Given the description of an element on the screen output the (x, y) to click on. 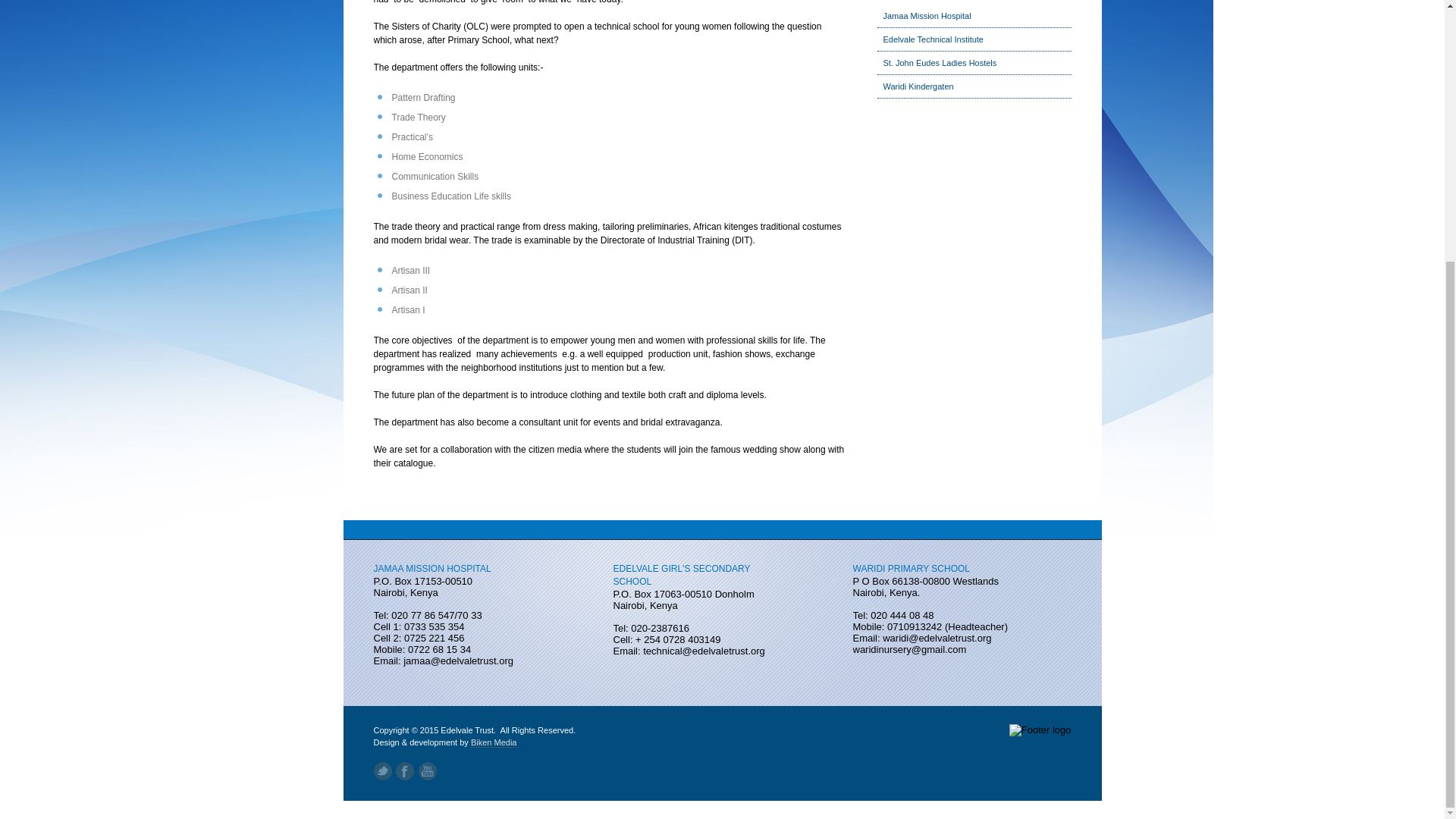
YouTube (427, 771)
Follow us on twitter (381, 771)
Join us on Facebook (404, 771)
